Given the description of an element on the screen output the (x, y) to click on. 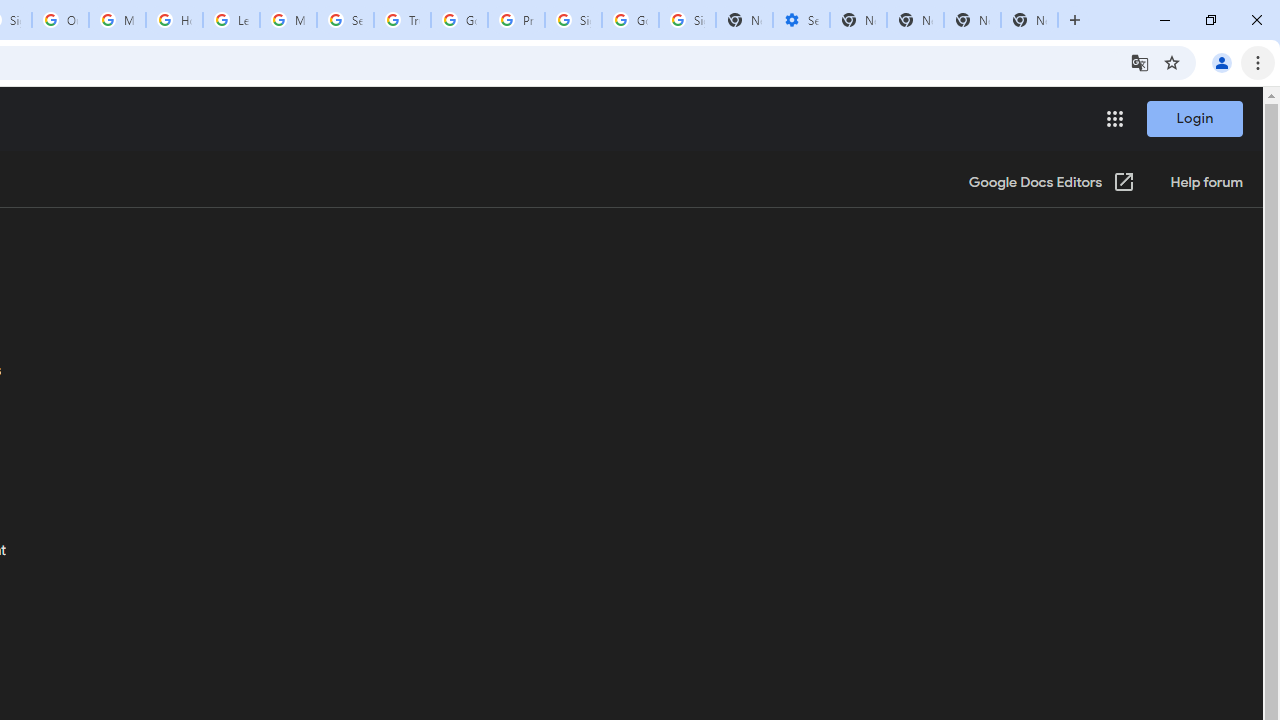
Sign in - Google Accounts (573, 20)
New Tab (1029, 20)
Google Ads - Sign in (459, 20)
Translate this page (1139, 62)
Google Cybersecurity Innovations - Google Safety Center (630, 20)
